Given the description of an element on the screen output the (x, y) to click on. 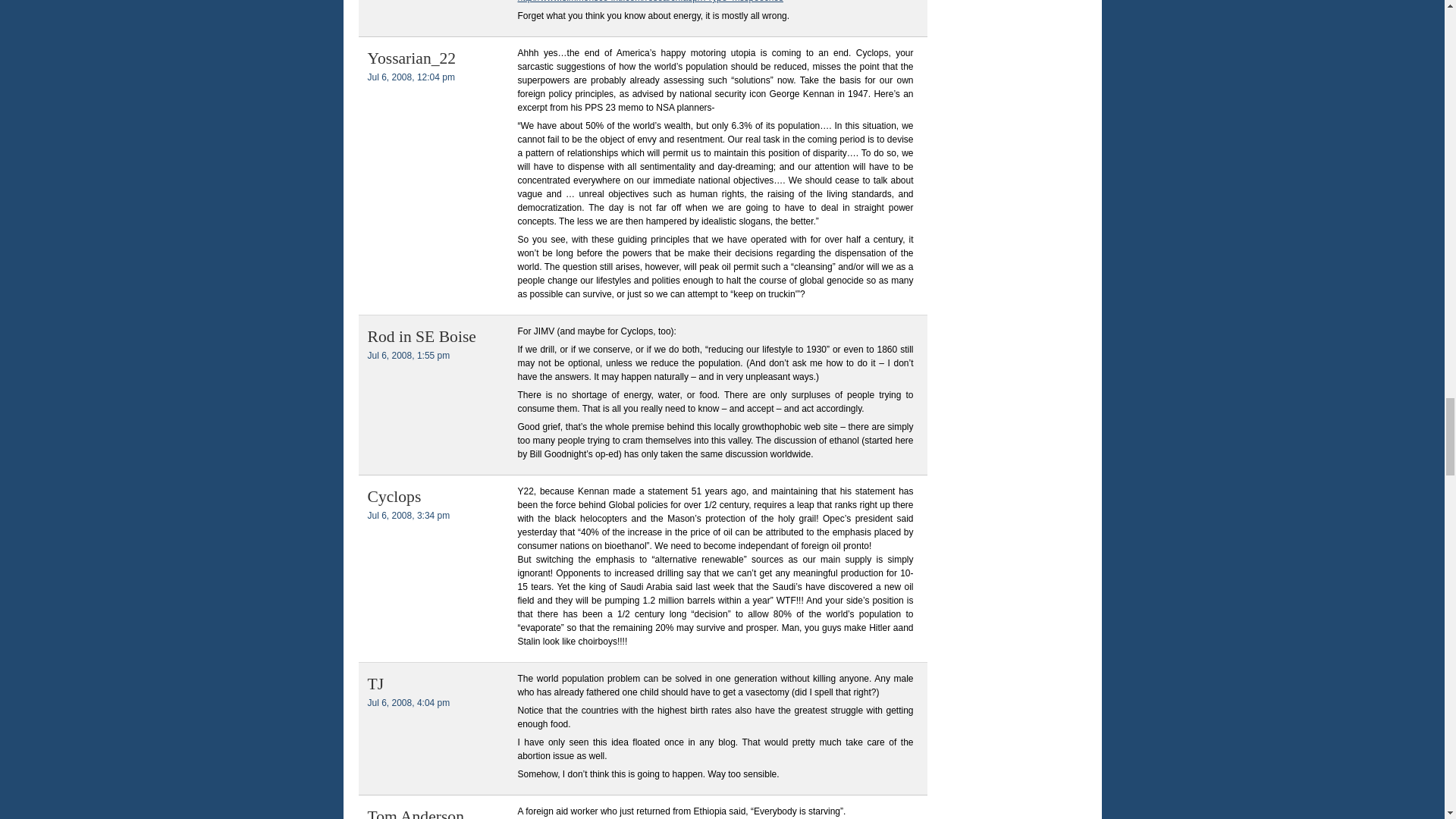
Jul 6, 2008, 1:55 pm (407, 355)
Jul 6, 2008, 12:04 pm (410, 77)
Jul 6, 2008, 3:34 pm (407, 515)
Jul 6, 2008, 4:04 pm (407, 702)
